Given the description of an element on the screen output the (x, y) to click on. 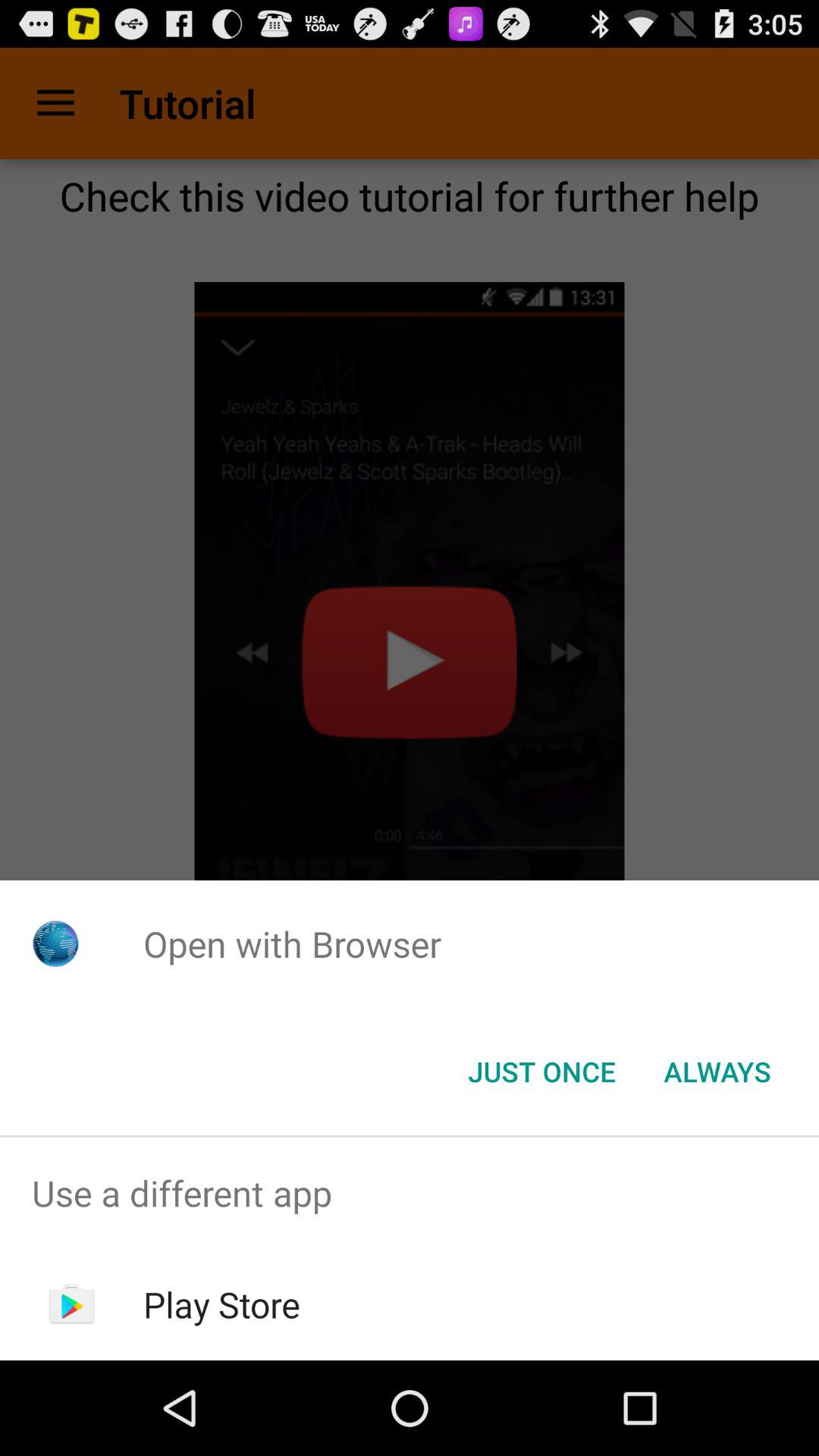
open the button to the left of the always (541, 1071)
